Given the description of an element on the screen output the (x, y) to click on. 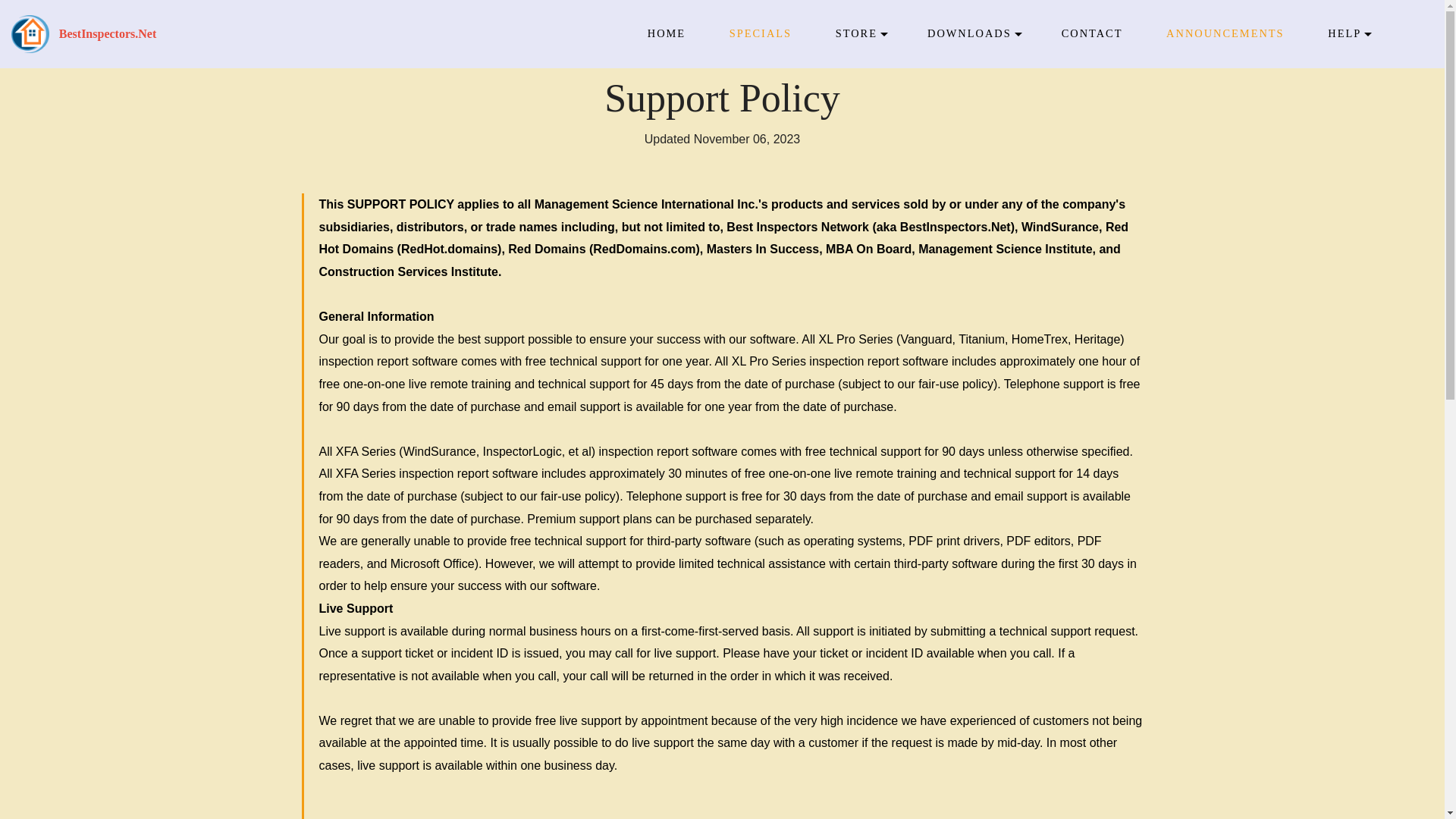
SPECIALS (760, 33)
BestInspectors.Net (107, 34)
CONTACT (1091, 33)
ANNOUNCEMENTS (1225, 33)
DOWNLOADS (969, 33)
Best Inspectors Network (30, 34)
HOME (666, 33)
STORE (856, 33)
HELP (1344, 33)
